Given the description of an element on the screen output the (x, y) to click on. 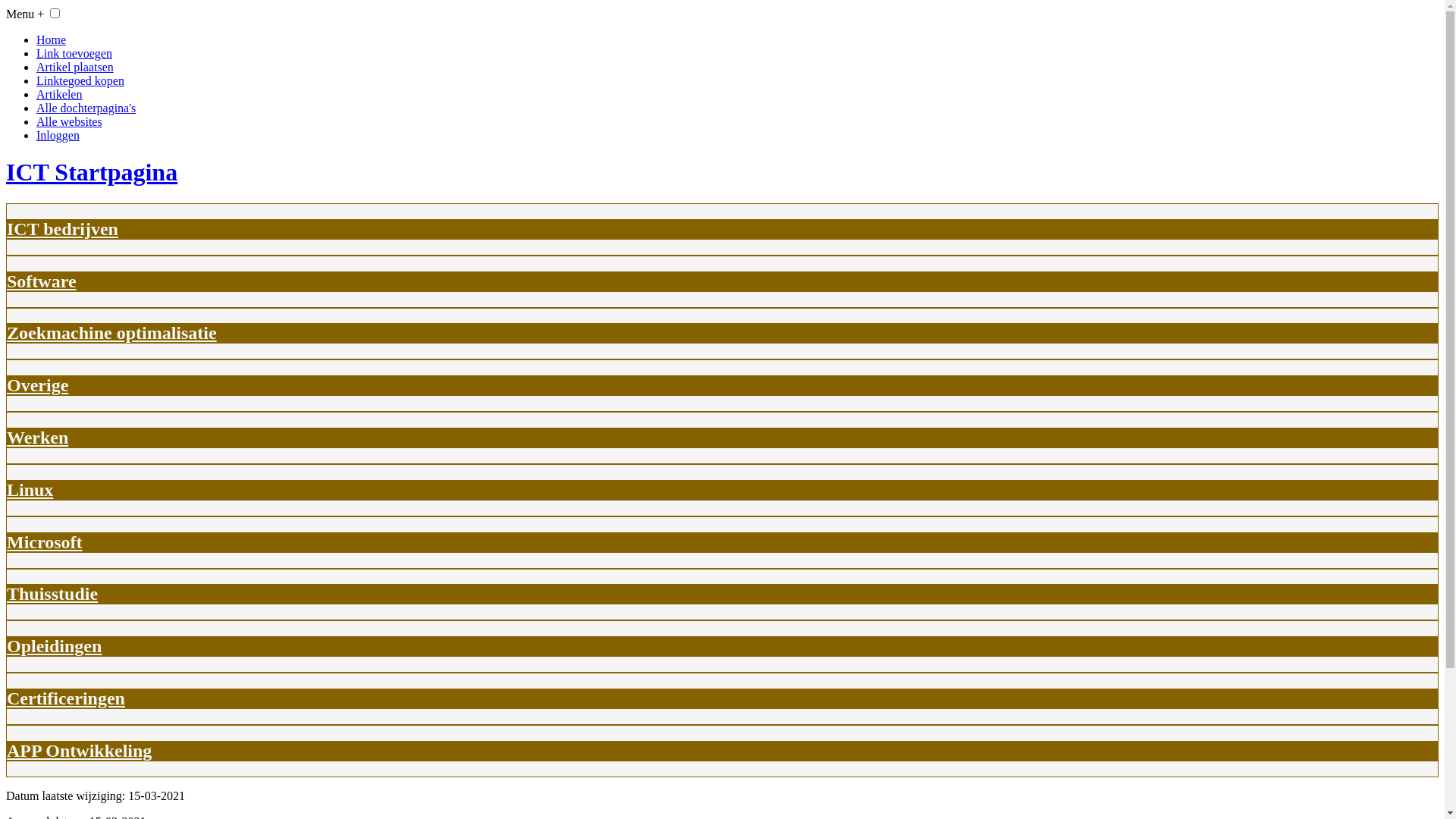
Certificeringen Element type: text (65, 698)
Alle websites Element type: text (69, 121)
Linux Element type: text (29, 489)
Software Element type: text (41, 281)
ICT bedrijven Element type: text (62, 228)
APP Ontwikkeling Element type: text (78, 750)
Zoekmachine optimalisatie Element type: text (111, 332)
Artikelen Element type: text (58, 93)
Link toevoegen Element type: text (74, 53)
Artikel plaatsen Element type: text (74, 66)
Inloggen Element type: text (57, 134)
Overige Element type: text (37, 385)
Microsoft Element type: text (44, 542)
Linktegoed kopen Element type: text (80, 80)
Opleidingen Element type: text (53, 645)
Alle dochterpagina's Element type: text (85, 107)
Thuisstudie Element type: text (51, 593)
Home Element type: text (50, 39)
Werken Element type: text (37, 437)
ICT Startpagina Element type: text (722, 172)
